Given the description of an element on the screen output the (x, y) to click on. 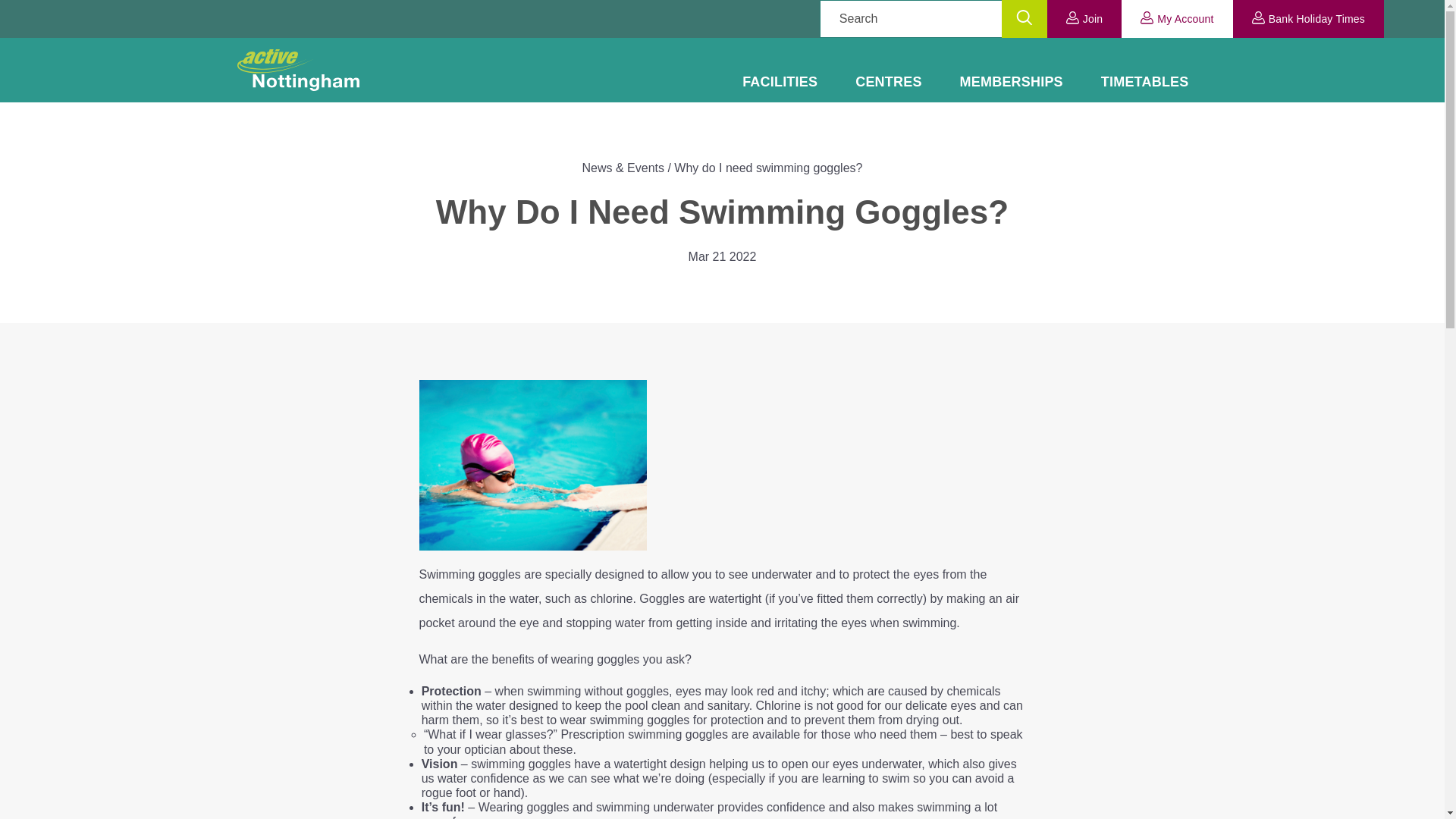
My Account (1176, 18)
Page link to Memberships (1010, 82)
Page link to Timetables (1144, 82)
Page link to Bank Holiday Times (1308, 18)
Page link to Join (1083, 18)
Page link to My Account (1176, 18)
FACILITIES (779, 82)
Page link to Centres (888, 82)
Page link to Facilities (779, 82)
Bank Holiday Times (1308, 18)
